Given the description of an element on the screen output the (x, y) to click on. 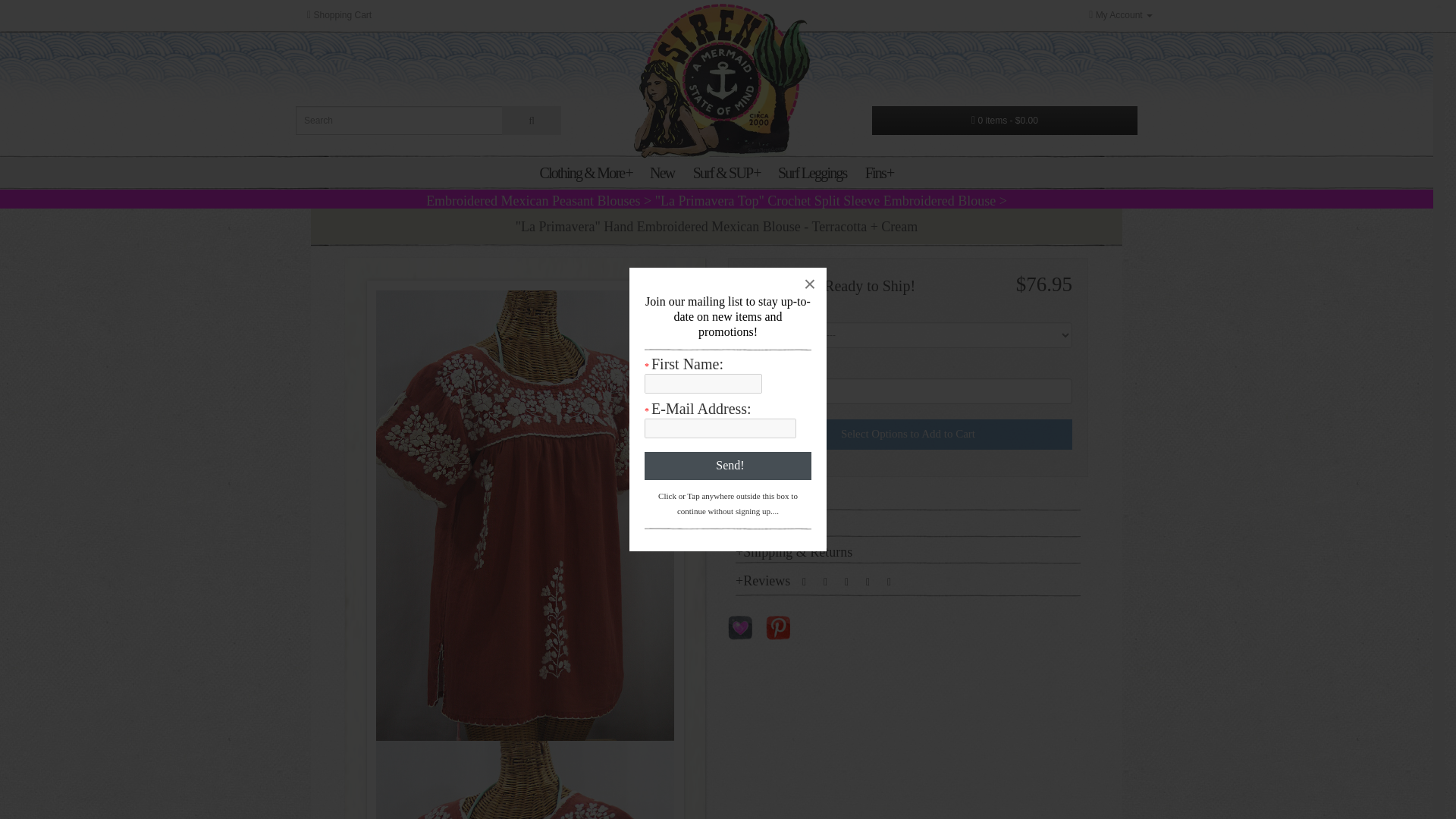
Embroidered Mexican Peasant Blouses (533, 200)
1 (907, 391)
My Account (1121, 14)
My Account (1121, 14)
Shopping Cart (338, 14)
New (662, 172)
Send! (727, 465)
Siren Brand (721, 81)
Surf Leggings (812, 172)
